Given the description of an element on the screen output the (x, y) to click on. 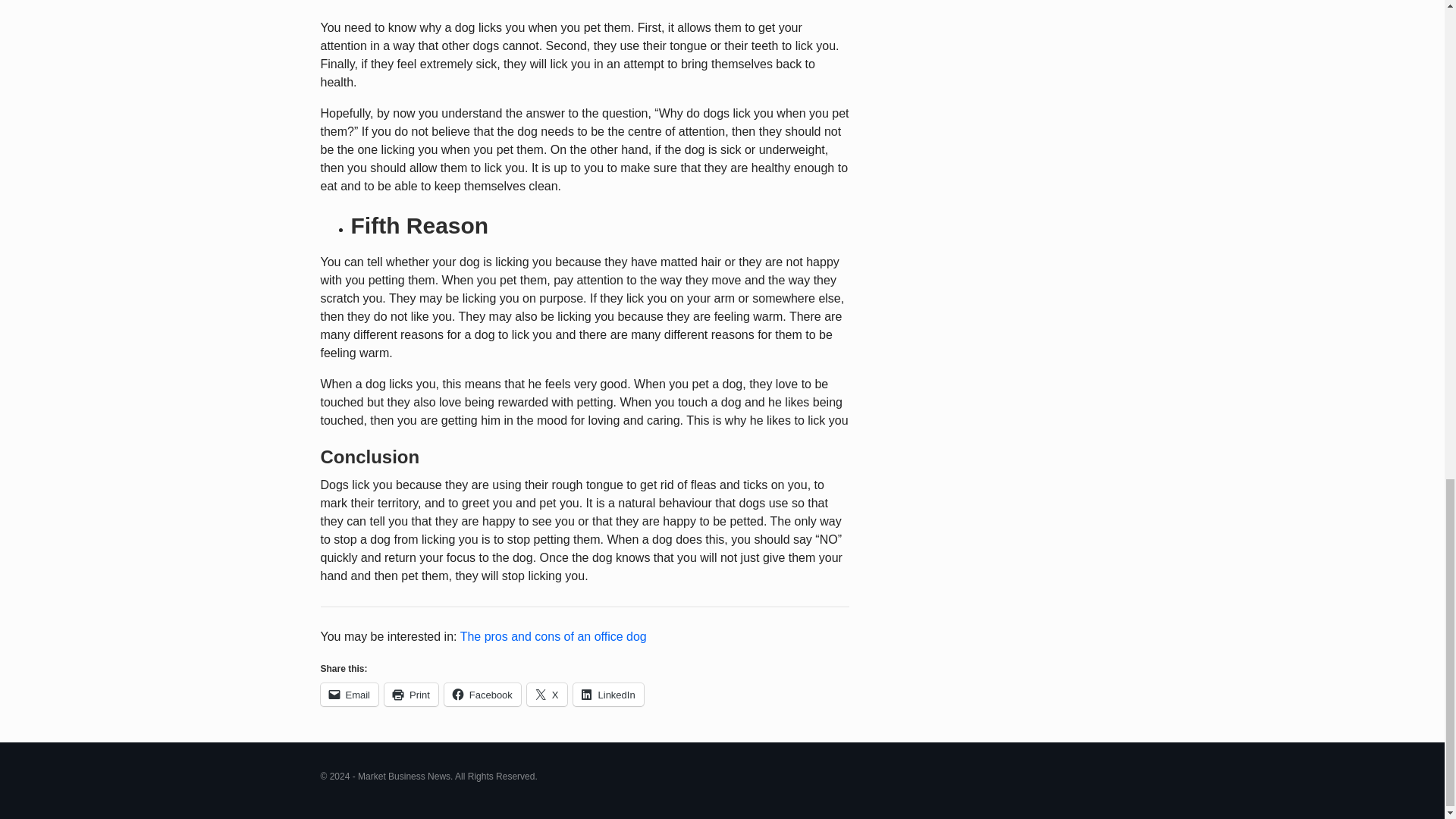
Print (411, 694)
X (547, 694)
LinkedIn (608, 694)
Click to share on Facebook (482, 694)
The pros and cons of an office dog (553, 635)
Email (349, 694)
Click to share on X (547, 694)
Click to share on LinkedIn (608, 694)
Click to print (411, 694)
Click to email a link to a friend (349, 694)
